Given the description of an element on the screen output the (x, y) to click on. 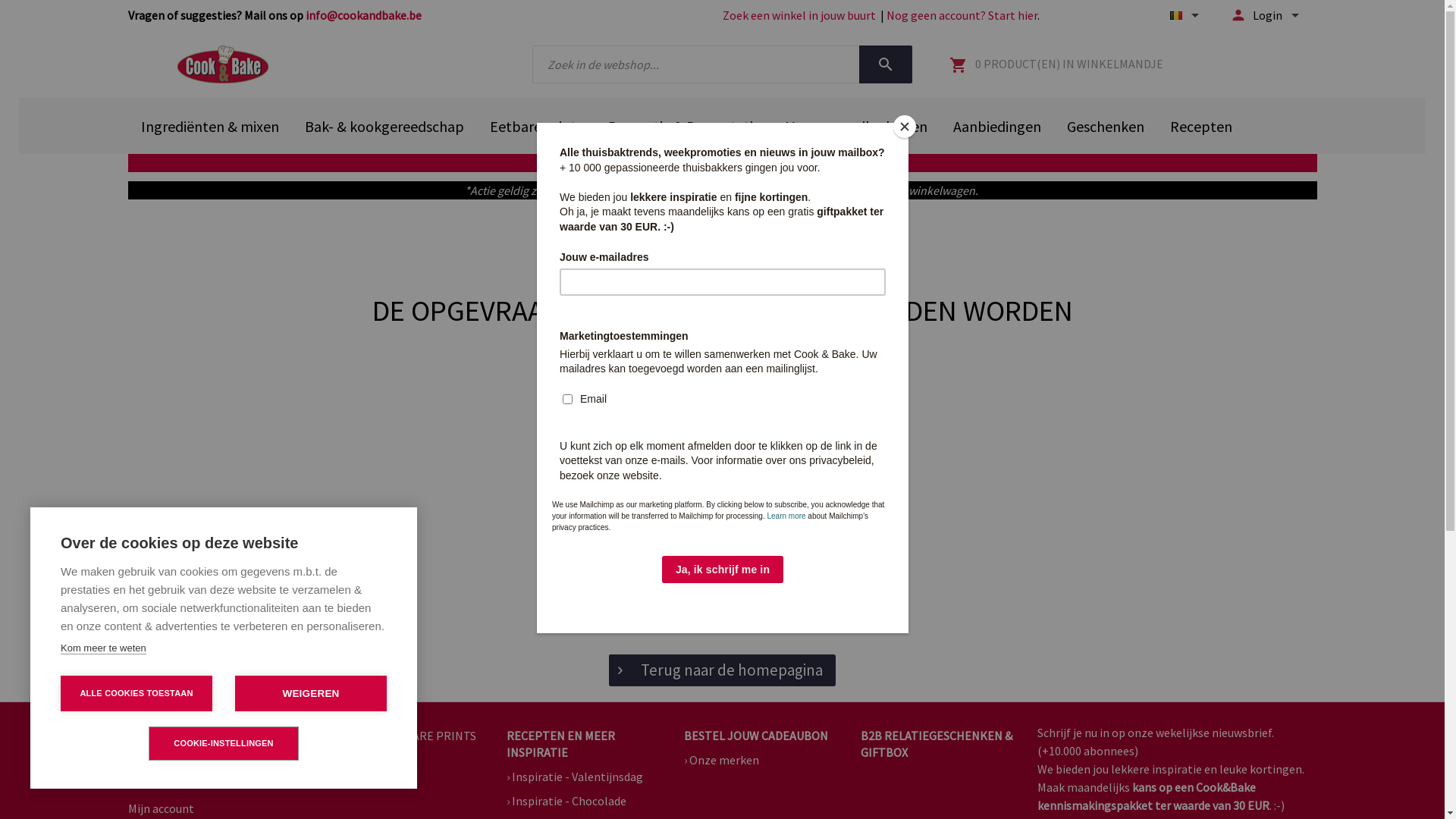
Terug naar de homepagina Element type: text (721, 670)
Onze merken Element type: text (721, 759)
Inspiratie - Chocolade Element type: text (566, 800)
Home Element type: text (143, 735)
WEIGEREN Element type: text (310, 693)
Aanbiedingen Element type: text (997, 125)
COOKIE-INSTELLINGEN Element type: text (223, 743)
Kom meer te weten Element type: text (103, 648)
Vanparys suikerbonen Element type: text (856, 125)
Recepten Element type: text (1201, 125)
Zoek een winkel in jouw buurt Element type: text (798, 14)
Startpagina Element type: text (221, 64)
Bak- & kookgereedschap Element type: text (383, 125)
B2B RELATIEGESCHENKEN & GIFTBOX Element type: text (936, 744)
RECEPTEN EN MEER INSPIRATIE Element type: text (582, 744)
Mijn account Element type: text (160, 808)
Geschenken Element type: text (1105, 125)
0 PRODUCT(EN) IN WINKELMANDJE Element type: text (1056, 64)
Decoratie & Presentatie Element type: text (683, 125)
Eetbare prints Element type: text (535, 125)
Nog geen account? Start hier Element type: text (960, 14)
BESTEL JOUW CADEAUBON Element type: text (756, 735)
Login Element type: text (141, 771)
ALLE COOKIES TOESTAAN Element type: text (136, 693)
info@cookandbake.be Element type: text (362, 14)
Inspiratie - Valentijnsdag Element type: text (574, 776)
HOW TO - EETBARE PRINTS Element type: text (402, 735)
